Given the description of an element on the screen output the (x, y) to click on. 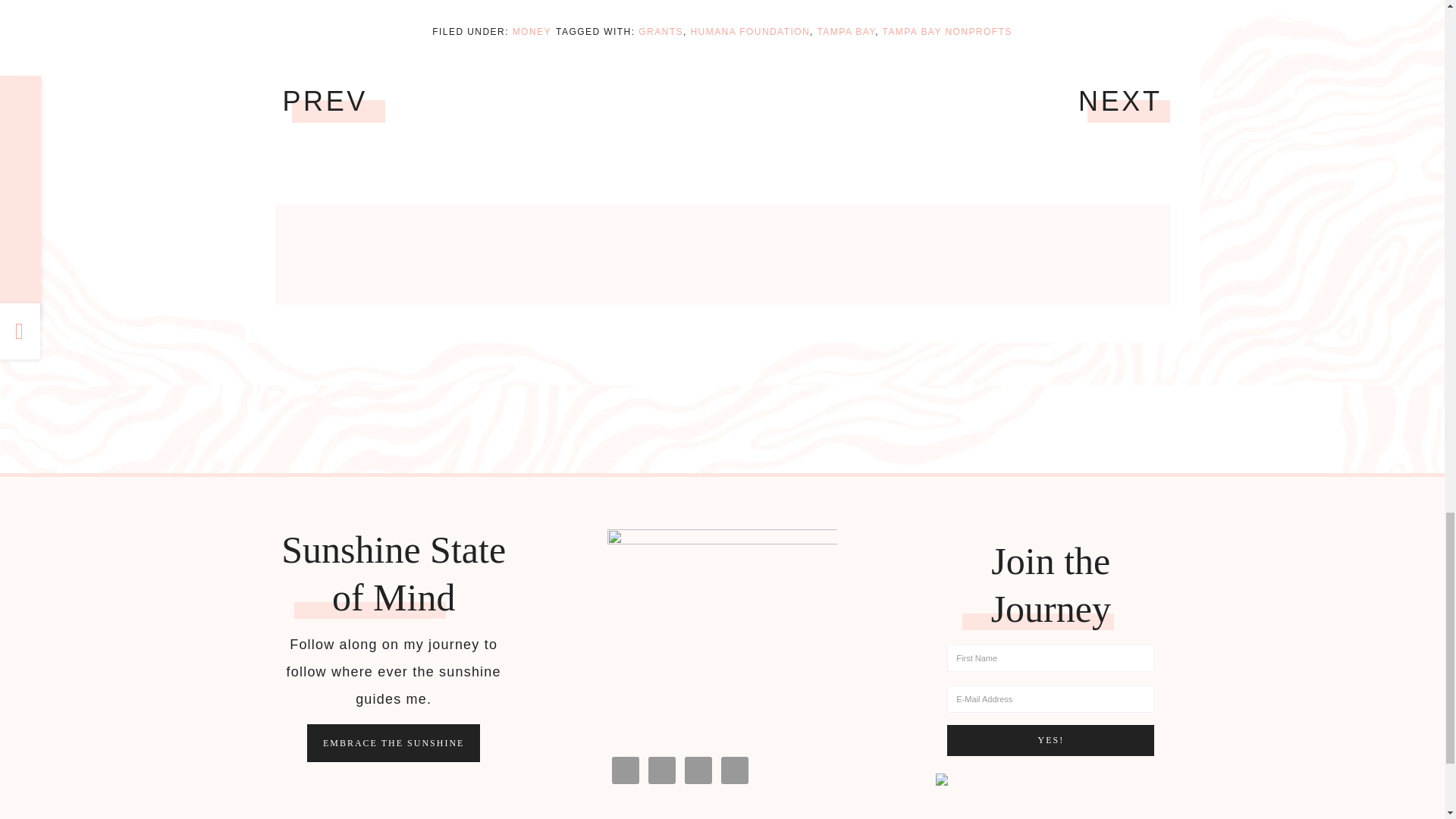
Yes! (1050, 739)
NEXT (1119, 101)
HUMANA FOUNDATION (749, 31)
GRANTS (660, 31)
EMBRACE THE SUNSHINE (393, 742)
TAMPA BAY NONPROFTS (946, 31)
MONEY (531, 31)
TAMPA BAY (845, 31)
PREV (324, 101)
